Given the description of an element on the screen output the (x, y) to click on. 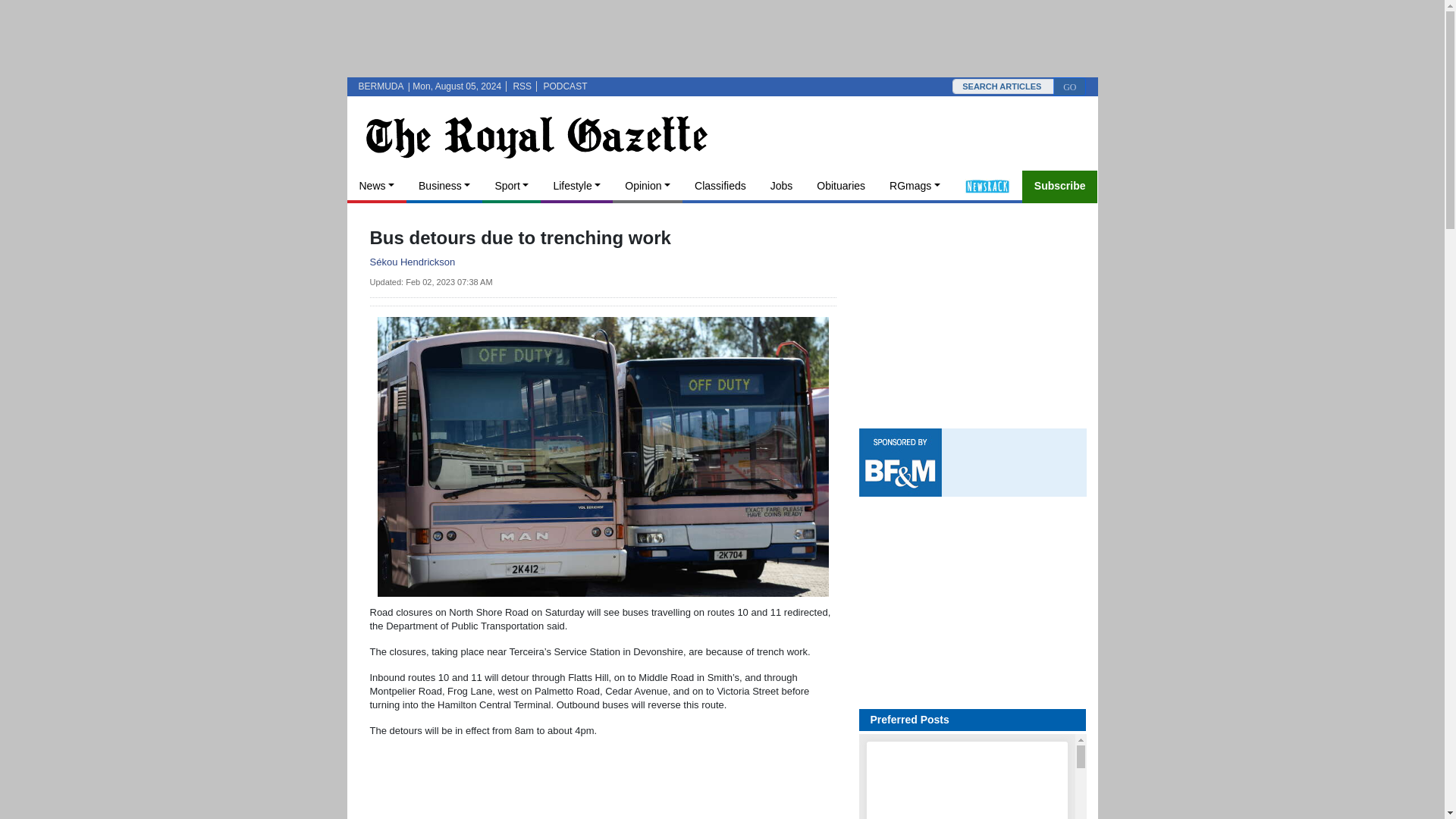
RSS (521, 86)
GO (1069, 86)
GO (1069, 86)
PODCAST (564, 86)
